Given the description of an element on the screen output the (x, y) to click on. 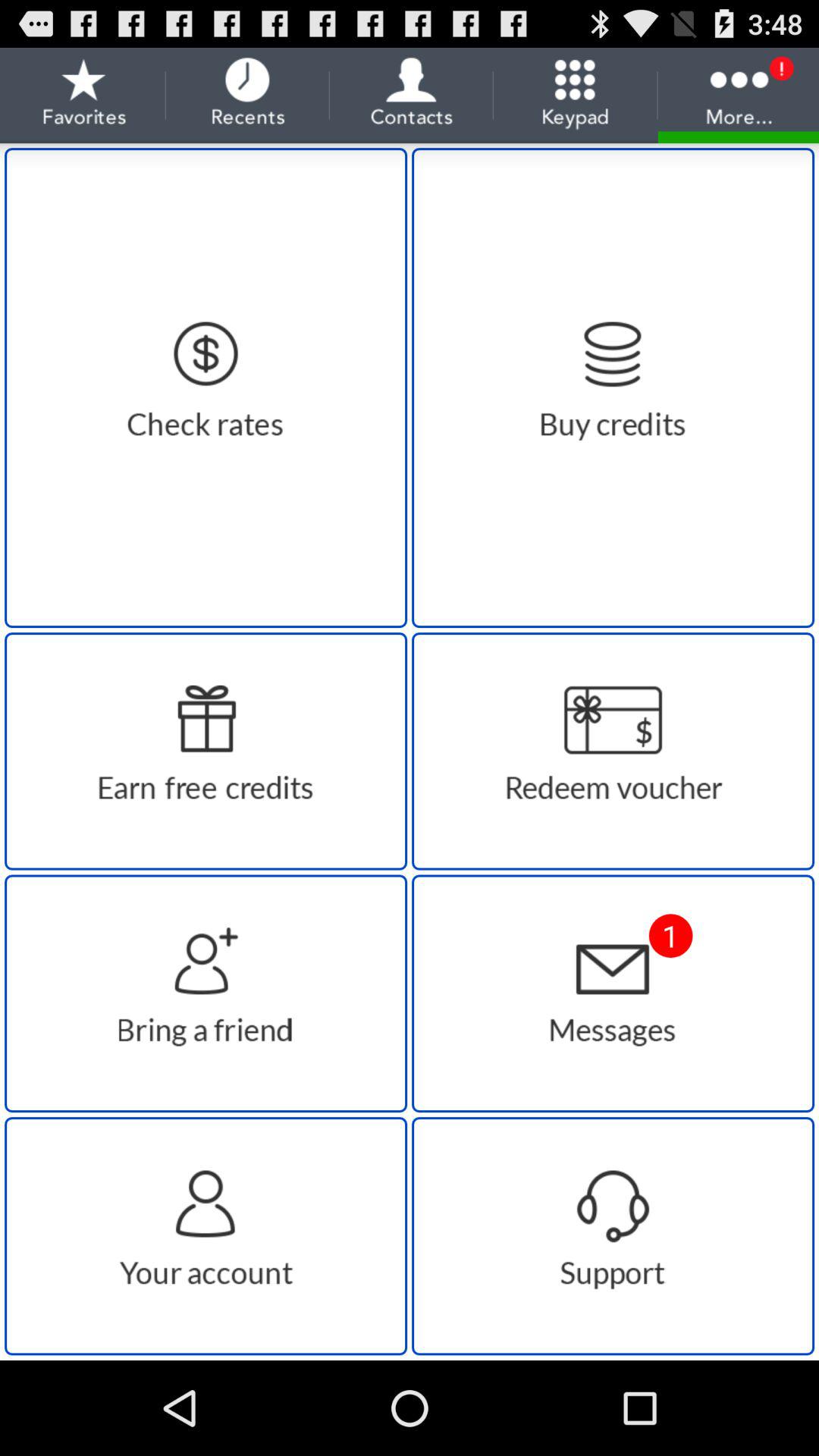
open icon on the left (205, 751)
